Given the description of an element on the screen output the (x, y) to click on. 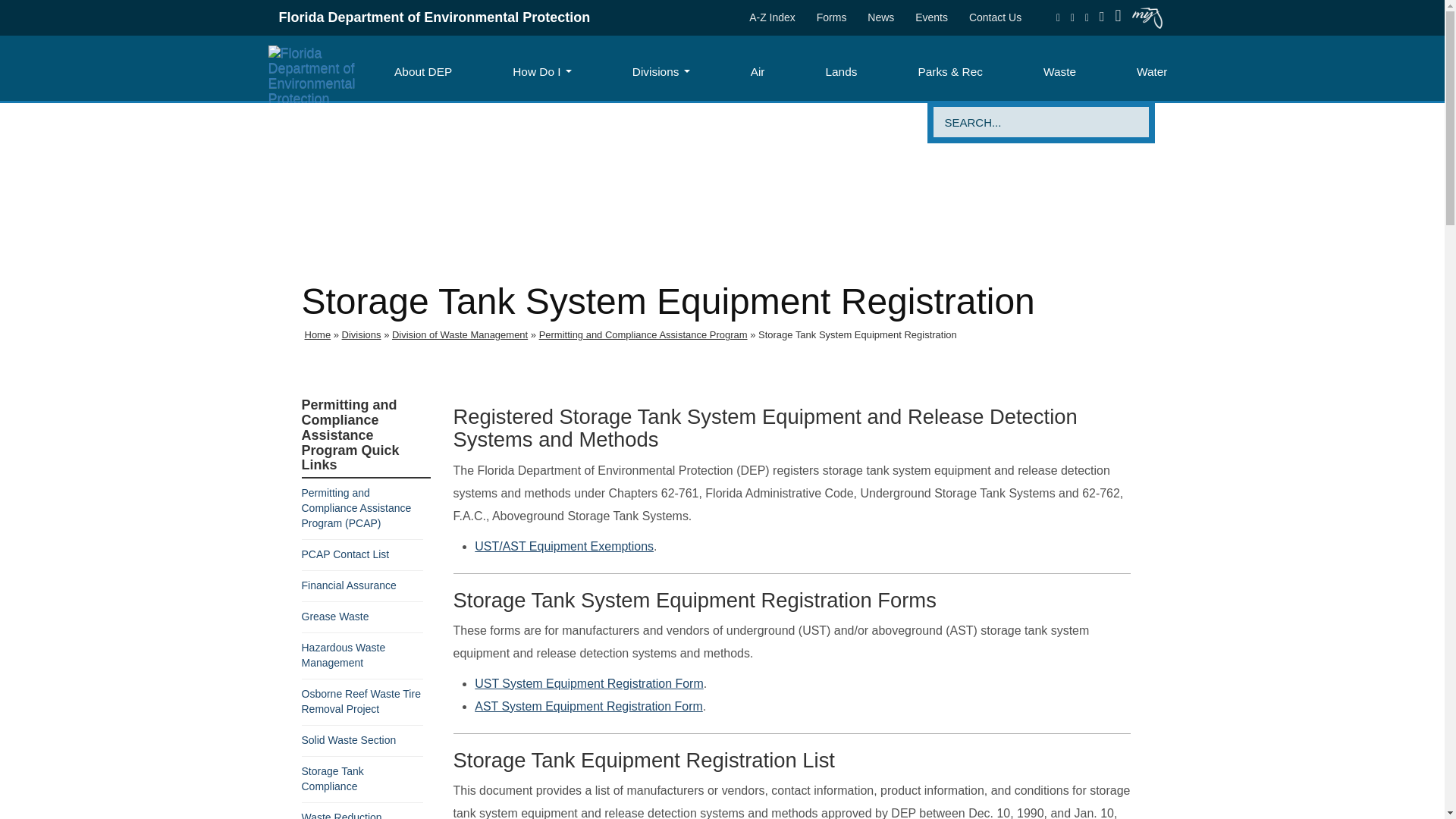
A-Z Index (772, 17)
Events (930, 17)
Connect with DEP on LinkedIn (1102, 17)
Waste (1059, 71)
How Do I (541, 71)
Water (1151, 71)
Search (1021, 122)
Connect with DEP on Twitter (1072, 17)
Contact Us (994, 17)
Skip to main content (63, 15)
